Given the description of an element on the screen output the (x, y) to click on. 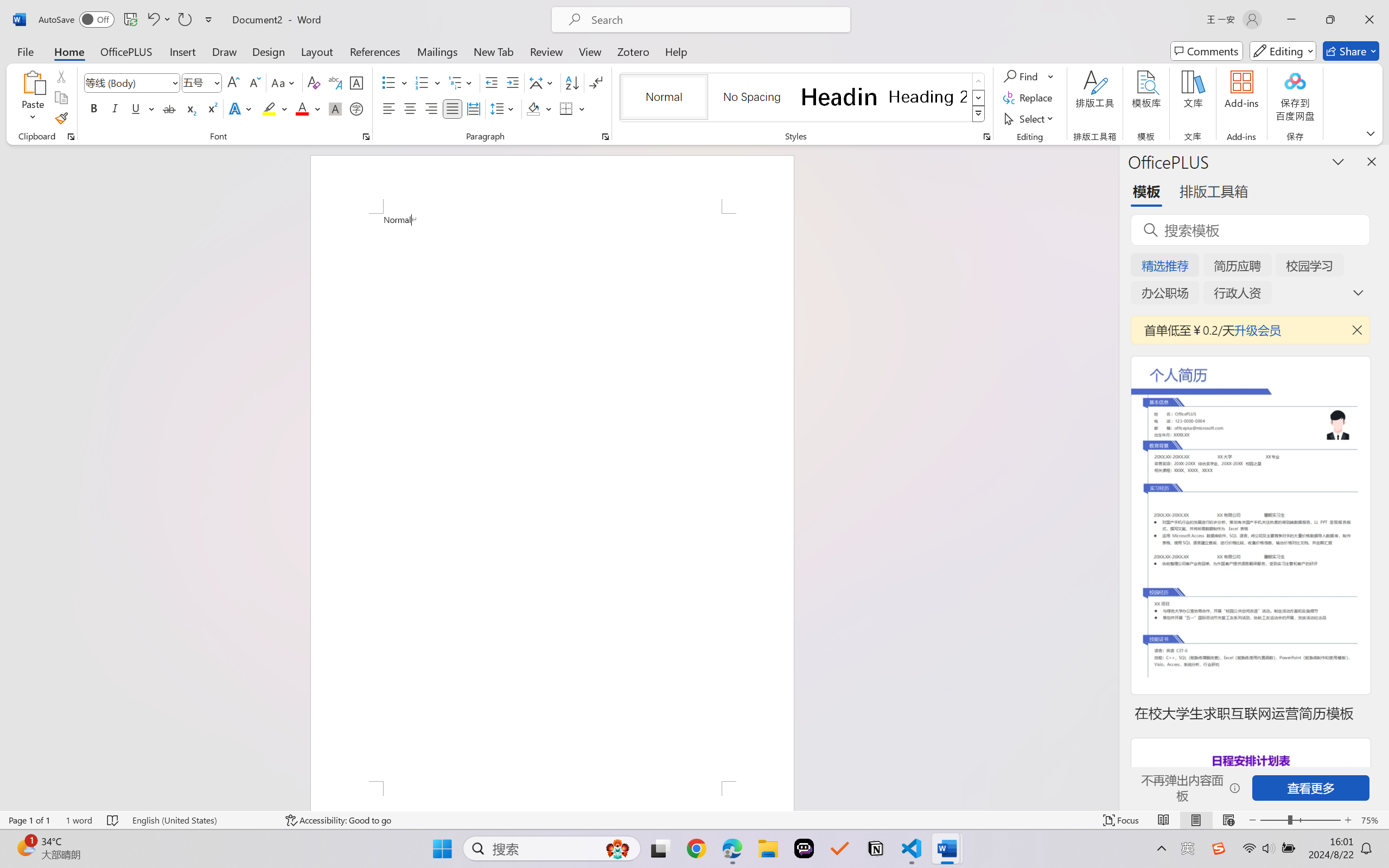
Open (215, 82)
Spelling and Grammar Check No Errors (113, 819)
Italic (115, 108)
Word Count 1 word (78, 819)
Strikethrough (169, 108)
Ribbon Display Options (1370, 132)
Language English (United States) (201, 819)
Asian Layout (542, 82)
Find (1029, 75)
Replace... (1029, 97)
Task Pane Options (1338, 161)
Center (409, 108)
